Given the description of an element on the screen output the (x, y) to click on. 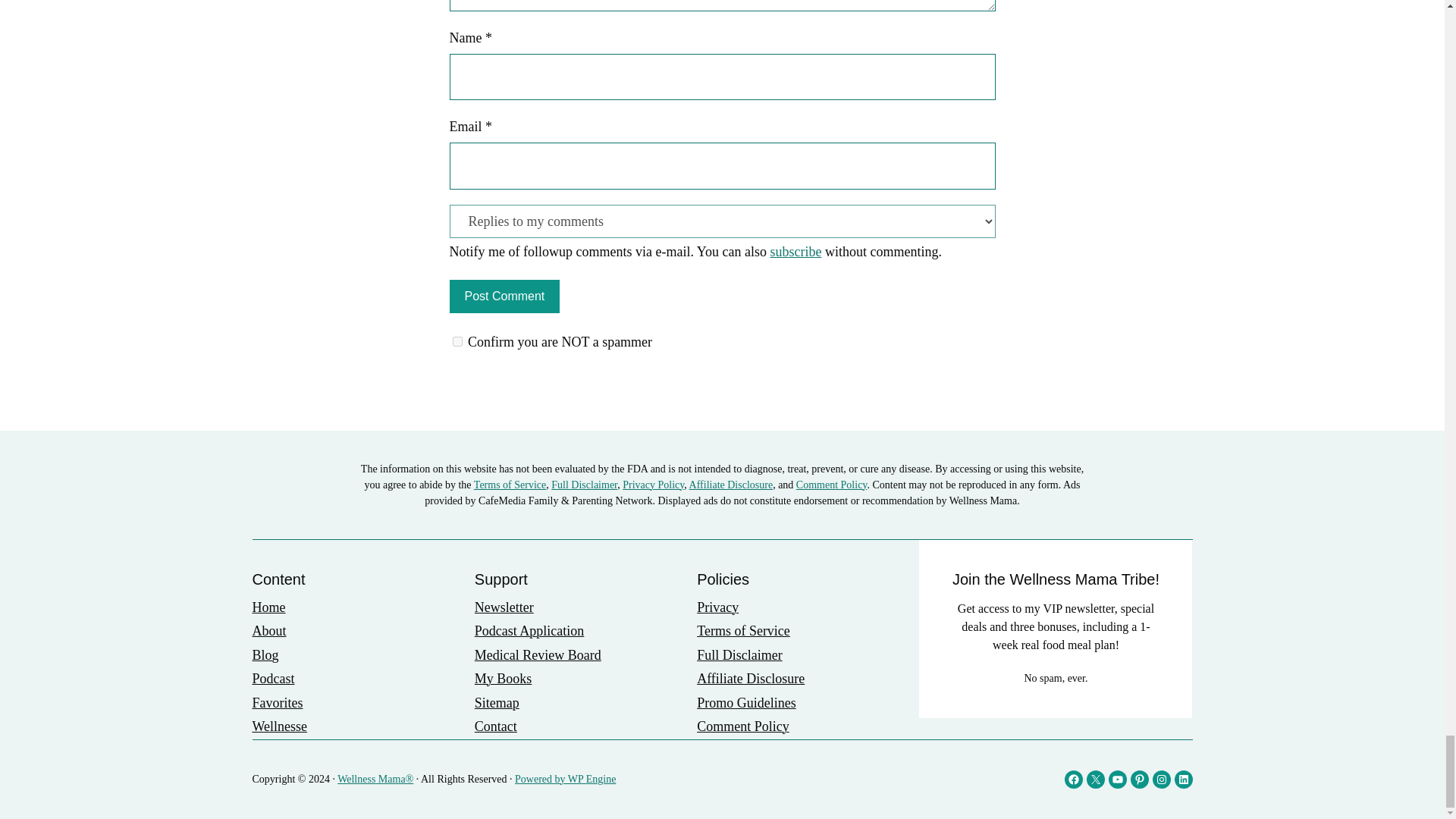
on (456, 341)
Post Comment (503, 296)
